Given the description of an element on the screen output the (x, y) to click on. 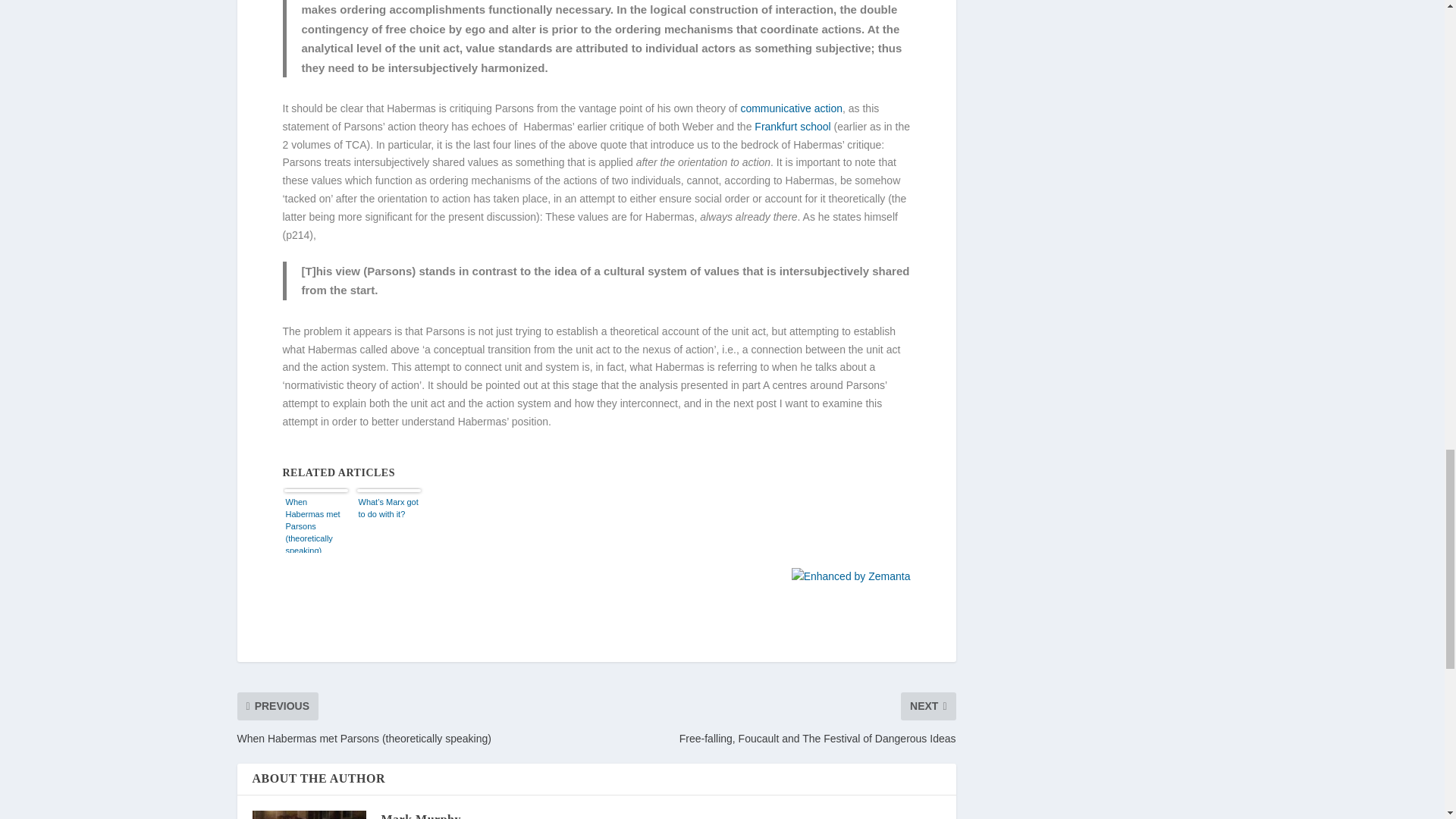
View all posts by Mark Murphy (420, 816)
Communicative action (791, 108)
Frankfurt School (791, 126)
